Given the description of an element on the screen output the (x, y) to click on. 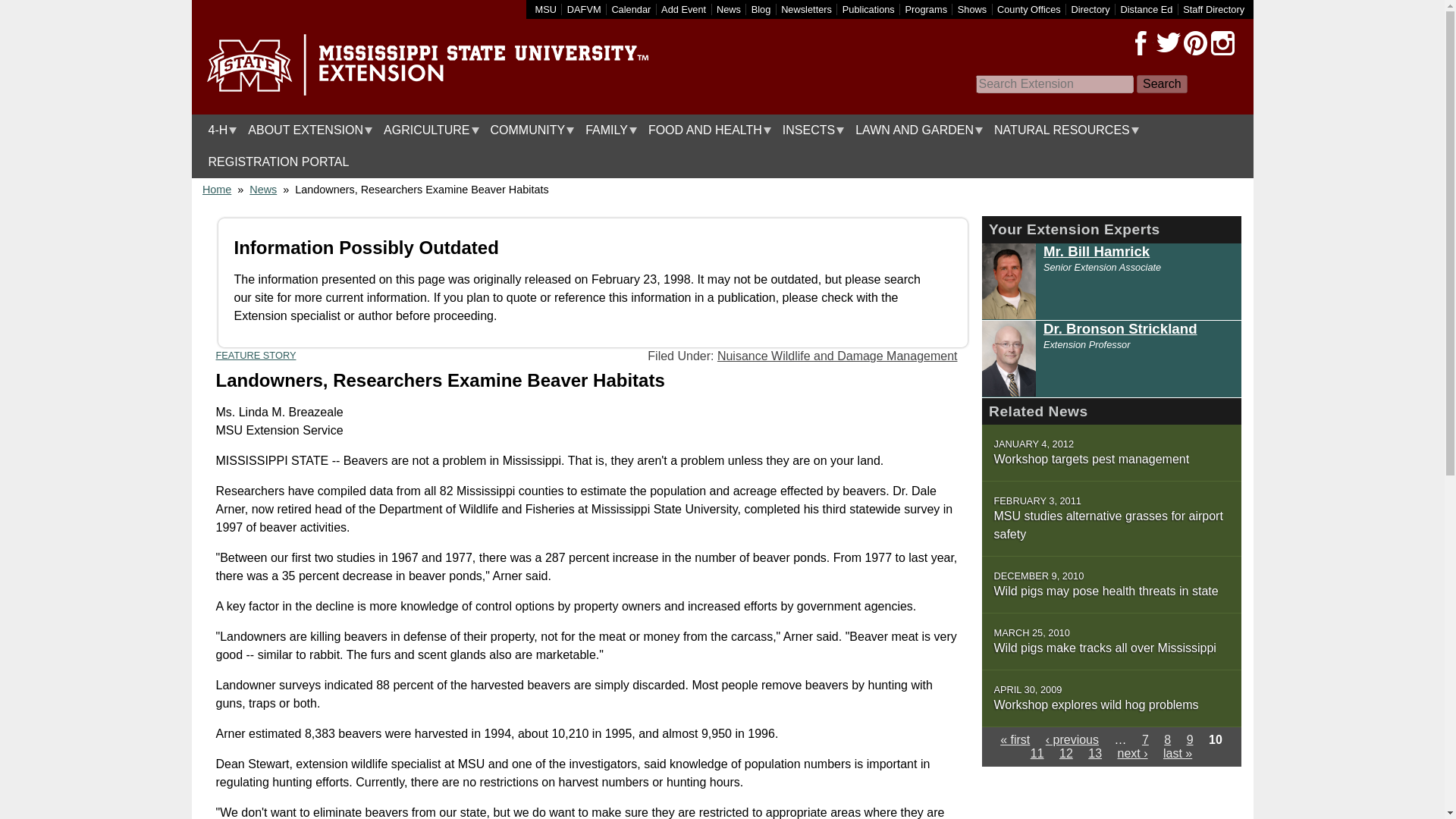
Twitter (1167, 43)
Find a county extension office (1029, 9)
Blog (761, 9)
DAFVM (584, 9)
List of Extension Programs (926, 9)
Publications (869, 9)
Calendar (630, 9)
Distance Ed (1145, 9)
Facebook (1140, 43)
4-H (218, 130)
Pinterest (1194, 43)
